Given the description of an element on the screen output the (x, y) to click on. 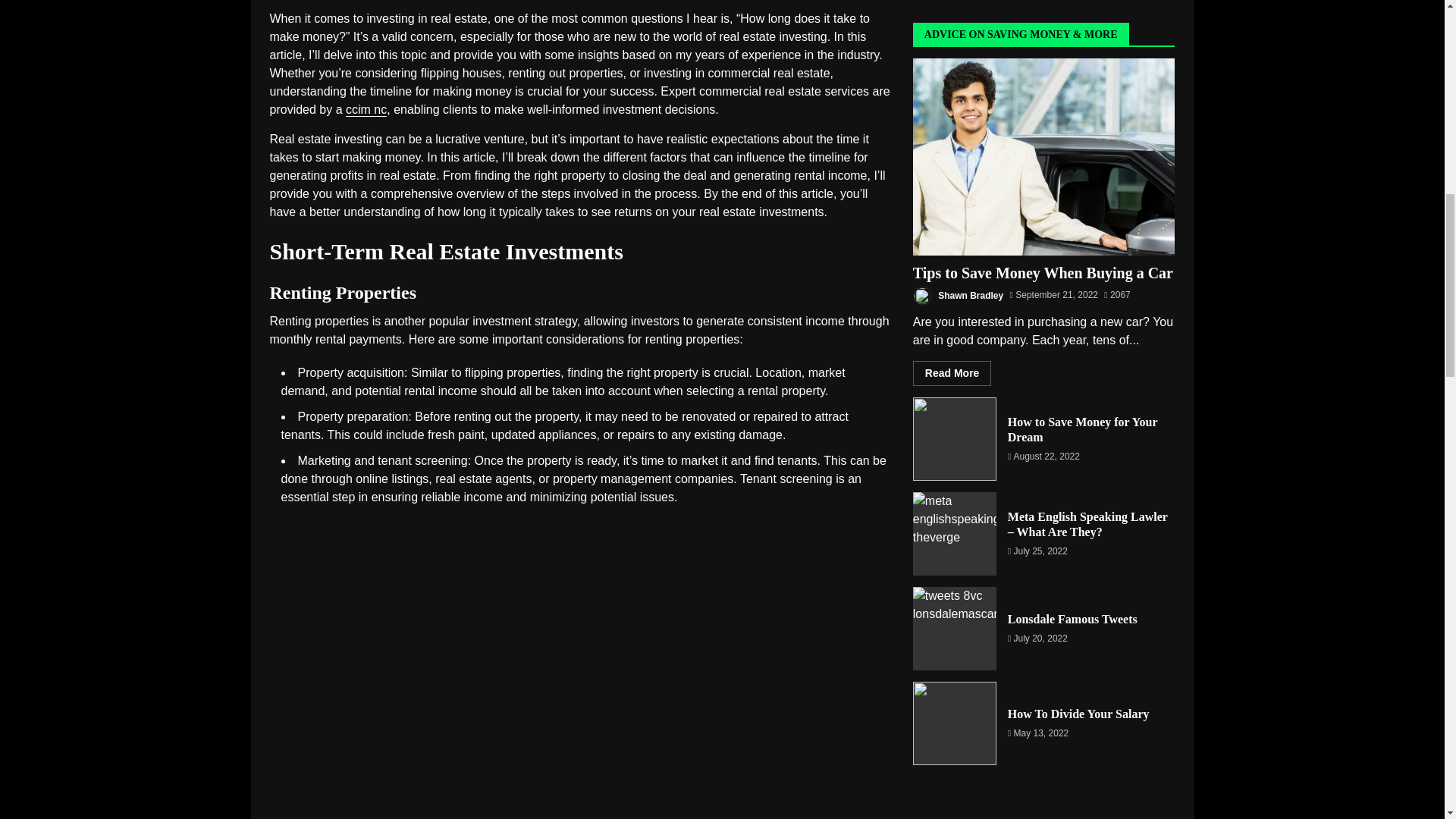
ccim nc (366, 110)
